Given the description of an element on the screen output the (x, y) to click on. 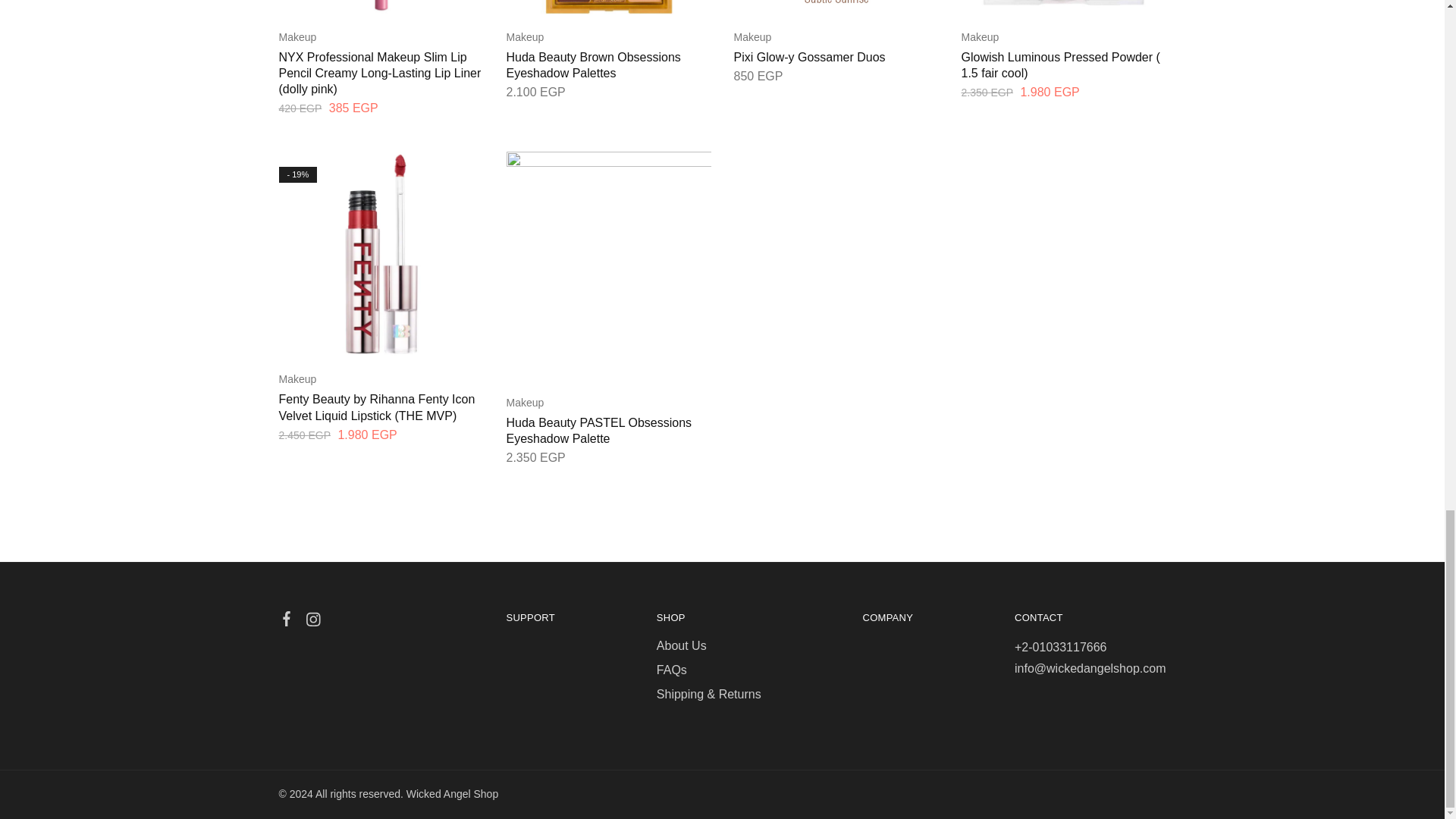
Instagram (312, 621)
Facebook (286, 620)
